Given the description of an element on the screen output the (x, y) to click on. 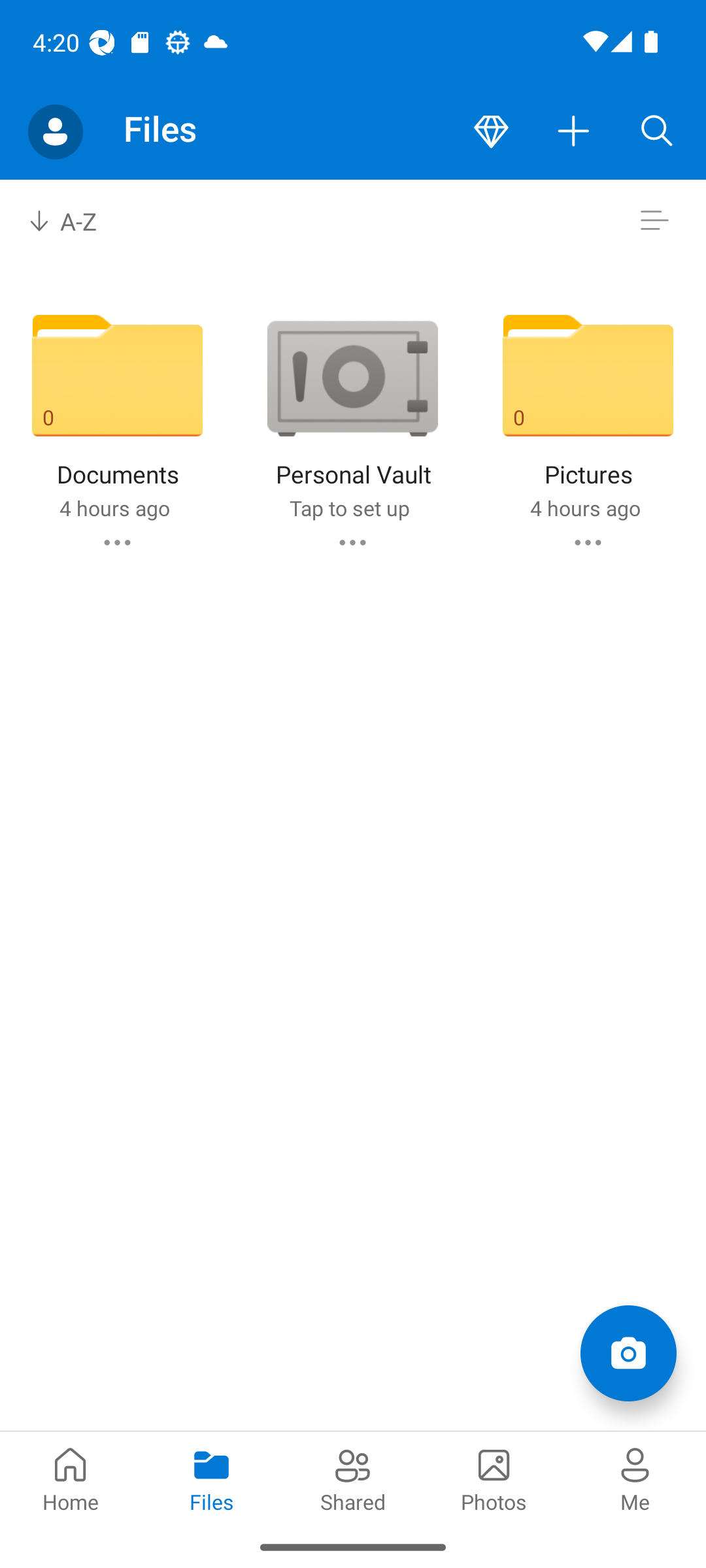
Account switcher (55, 131)
Premium button (491, 131)
More actions button (574, 131)
Search button (656, 131)
A-Z Sort by combo box, sort by name, A to Z (76, 220)
Switch to list view (654, 220)
4 hours ago (113, 507)
Tap to set up (348, 507)
4 hours ago (584, 507)
Documents commands (116, 542)
Personal Vault commands (352, 542)
Pictures commands (587, 542)
Add items Scan (628, 1352)
Home pivot Home (70, 1478)
Shared pivot Shared (352, 1478)
Photos pivot Photos (493, 1478)
Me pivot Me (635, 1478)
